Given the description of an element on the screen output the (x, y) to click on. 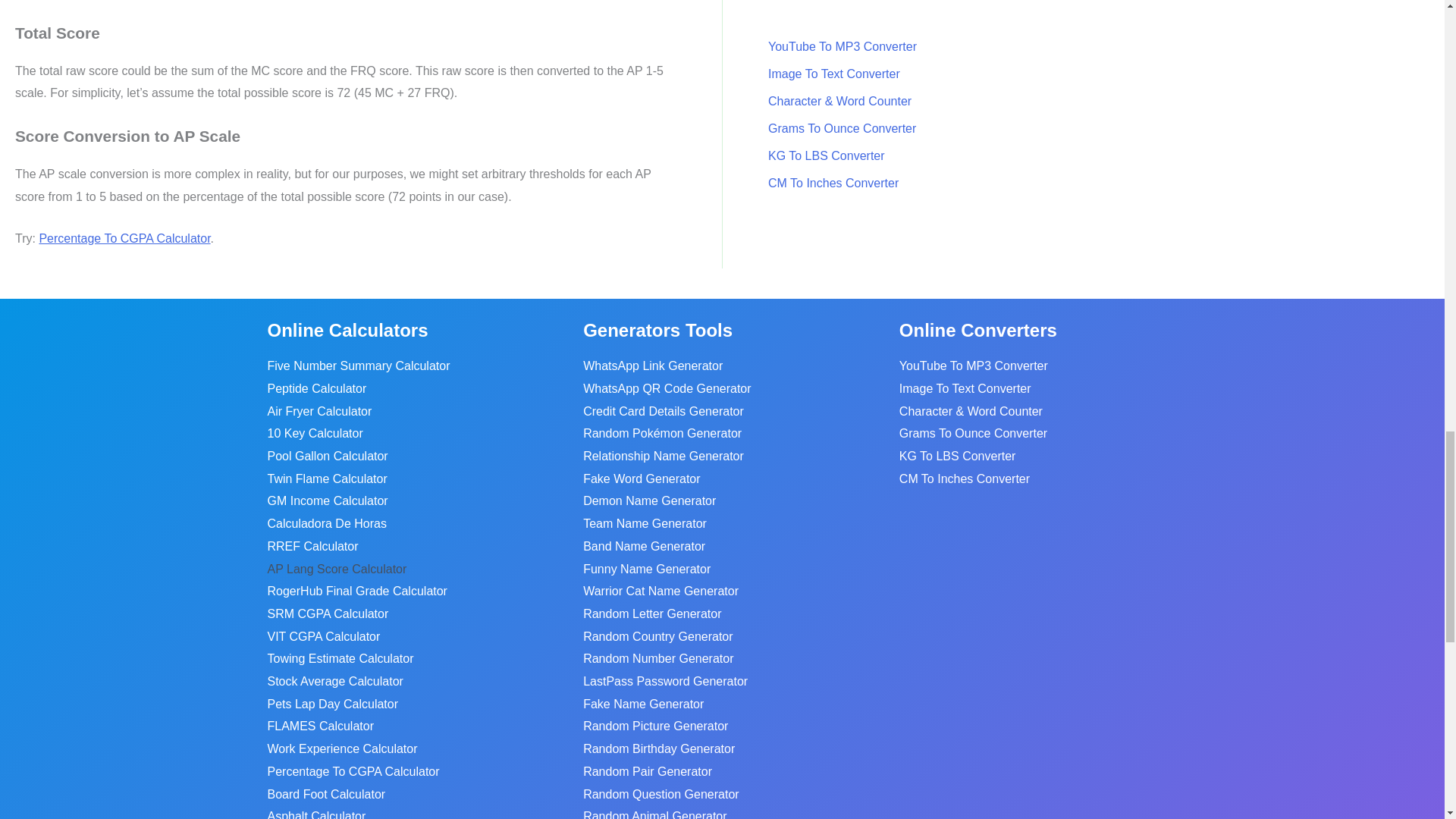
Calculadora De Horas (325, 523)
Pool Gallon Calculator (326, 456)
Peptide Calculator (316, 388)
RogerHub Final Grade Calculator (356, 590)
Percentage To CGPA Calculator (124, 237)
AP Lang Score Calculator (336, 568)
FLAMES Calculator (320, 725)
Stock Average Calculator (334, 681)
Five Number Summary Calculator (357, 365)
10 Key Calculator (314, 433)
